Given the description of an element on the screen output the (x, y) to click on. 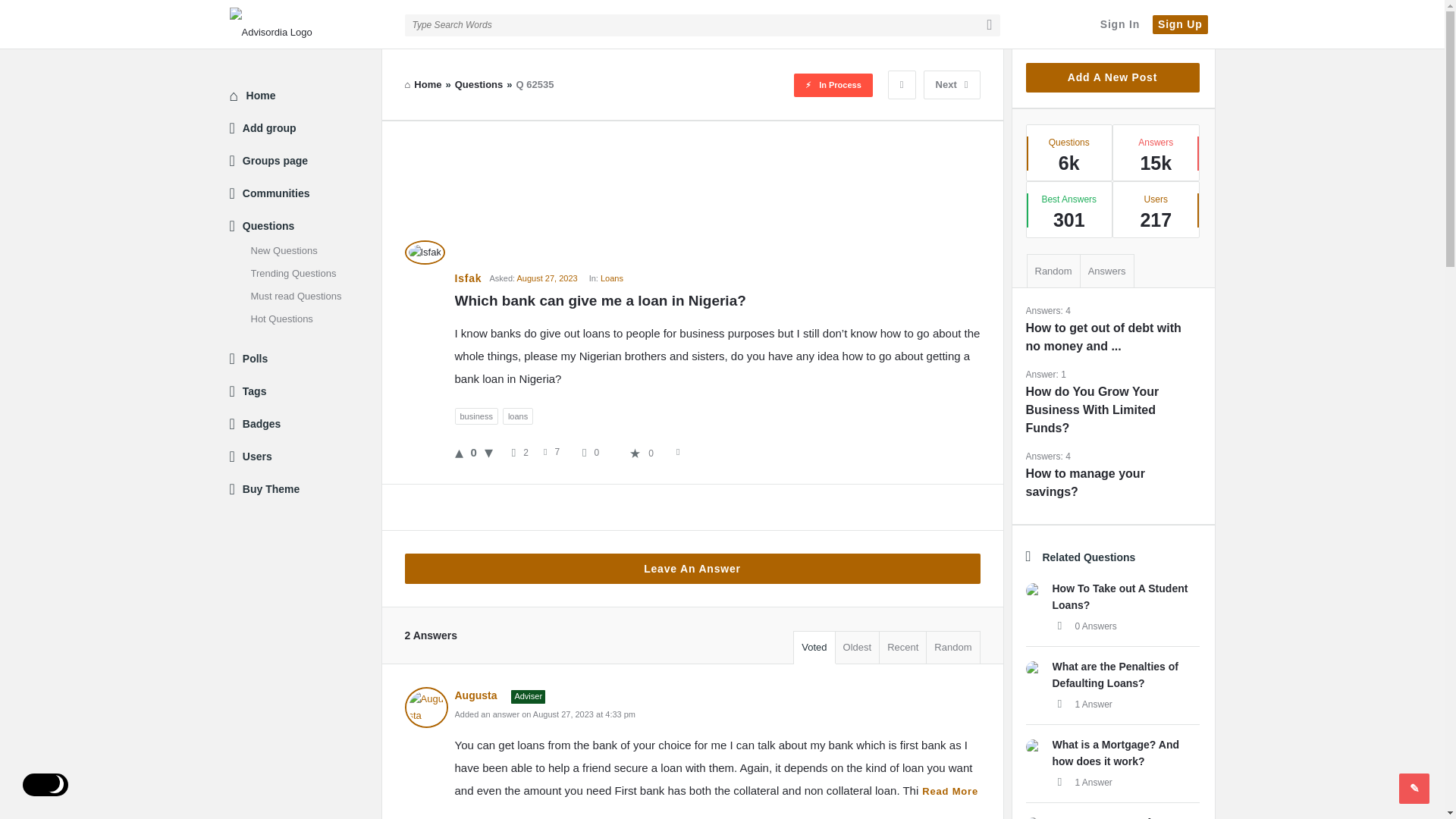
Advisordia (271, 25)
Home (423, 84)
Advisordia (304, 24)
Sign Up (1180, 24)
Sign In (1119, 24)
Questions (478, 84)
Like (458, 452)
Isfak (425, 251)
Dislike (488, 452)
